Given the description of an element on the screen output the (x, y) to click on. 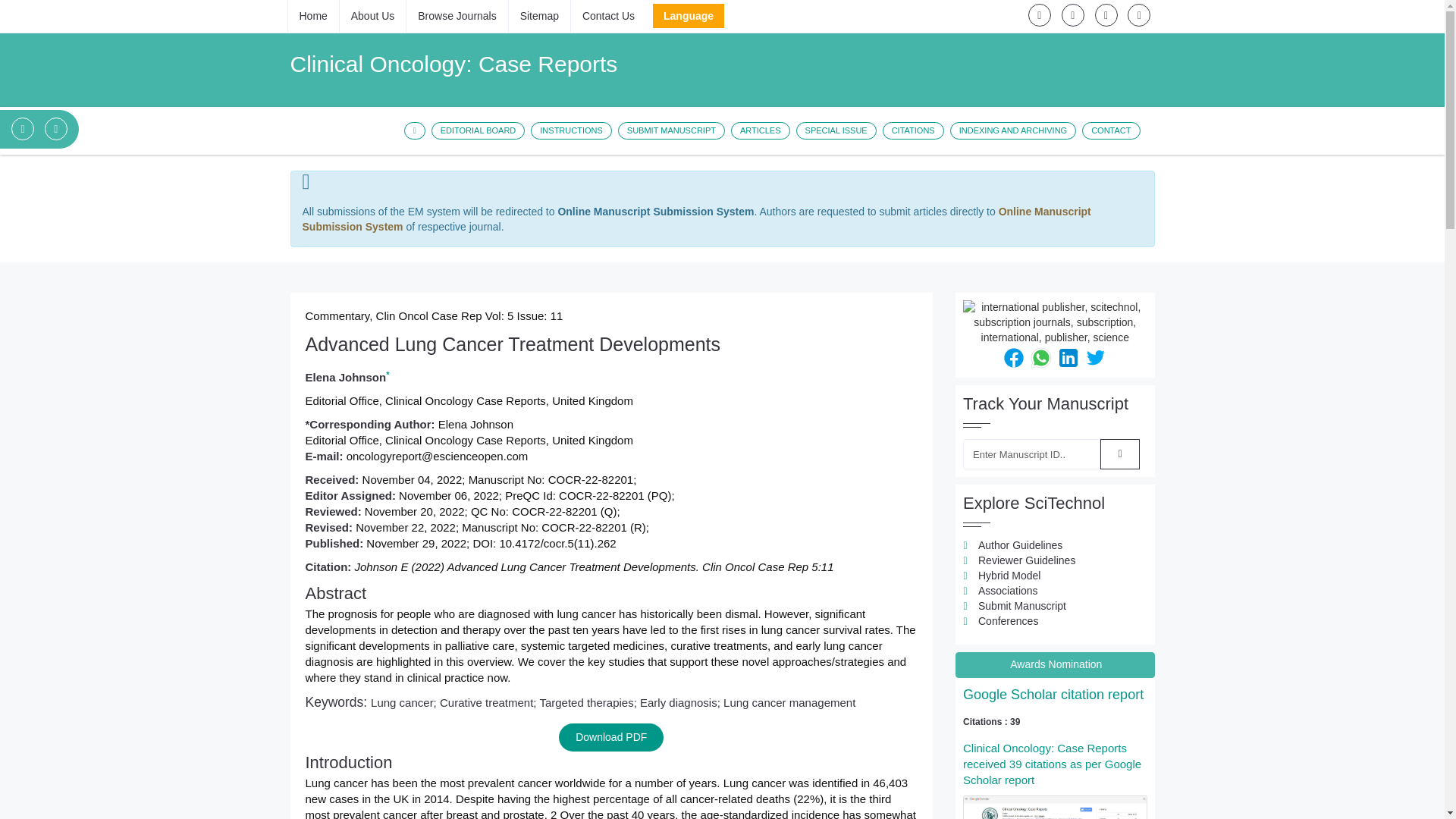
Home (312, 15)
Share This Article (1068, 357)
QR (1054, 322)
SUBMIT MANUSCRIPT (671, 130)
EDITORIAL BOARD (477, 130)
Language (687, 15)
INSTRUCTIONS (571, 130)
SPECIAL ISSUE (836, 130)
Click here (1052, 694)
ARTICLES (760, 130)
